Given the description of an element on the screen output the (x, y) to click on. 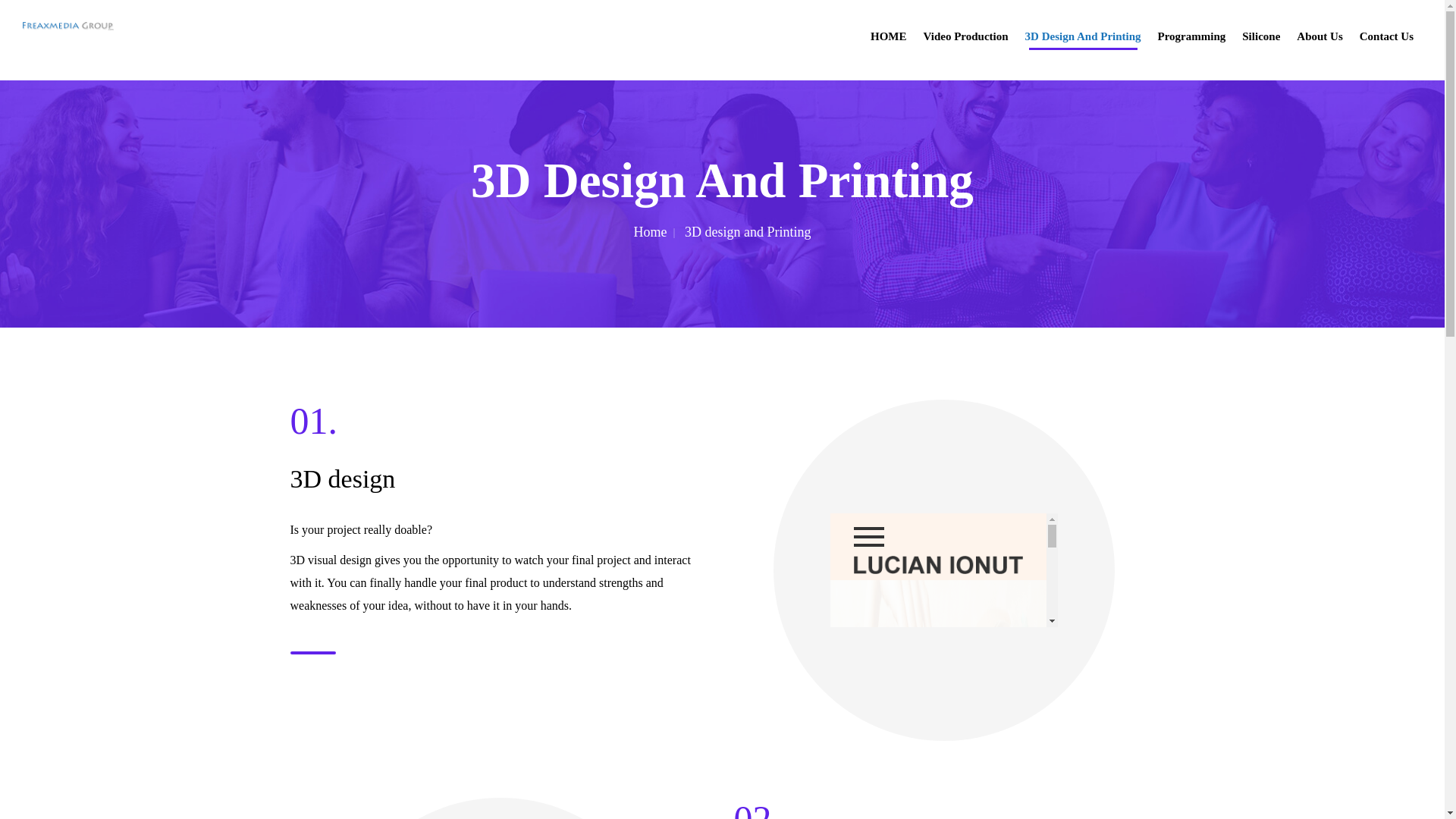
Home (655, 231)
Video Production (965, 40)
3D Design And Printing (1083, 40)
Programming (1192, 40)
Contact Us (1386, 40)
